Given the description of an element on the screen output the (x, y) to click on. 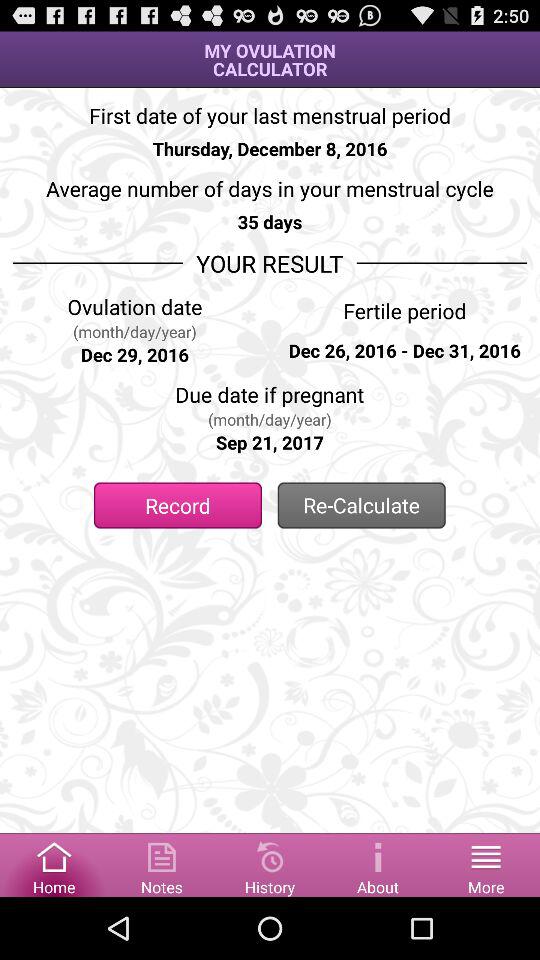
information about my ovulation calculator (378, 864)
